Given the description of an element on the screen output the (x, y) to click on. 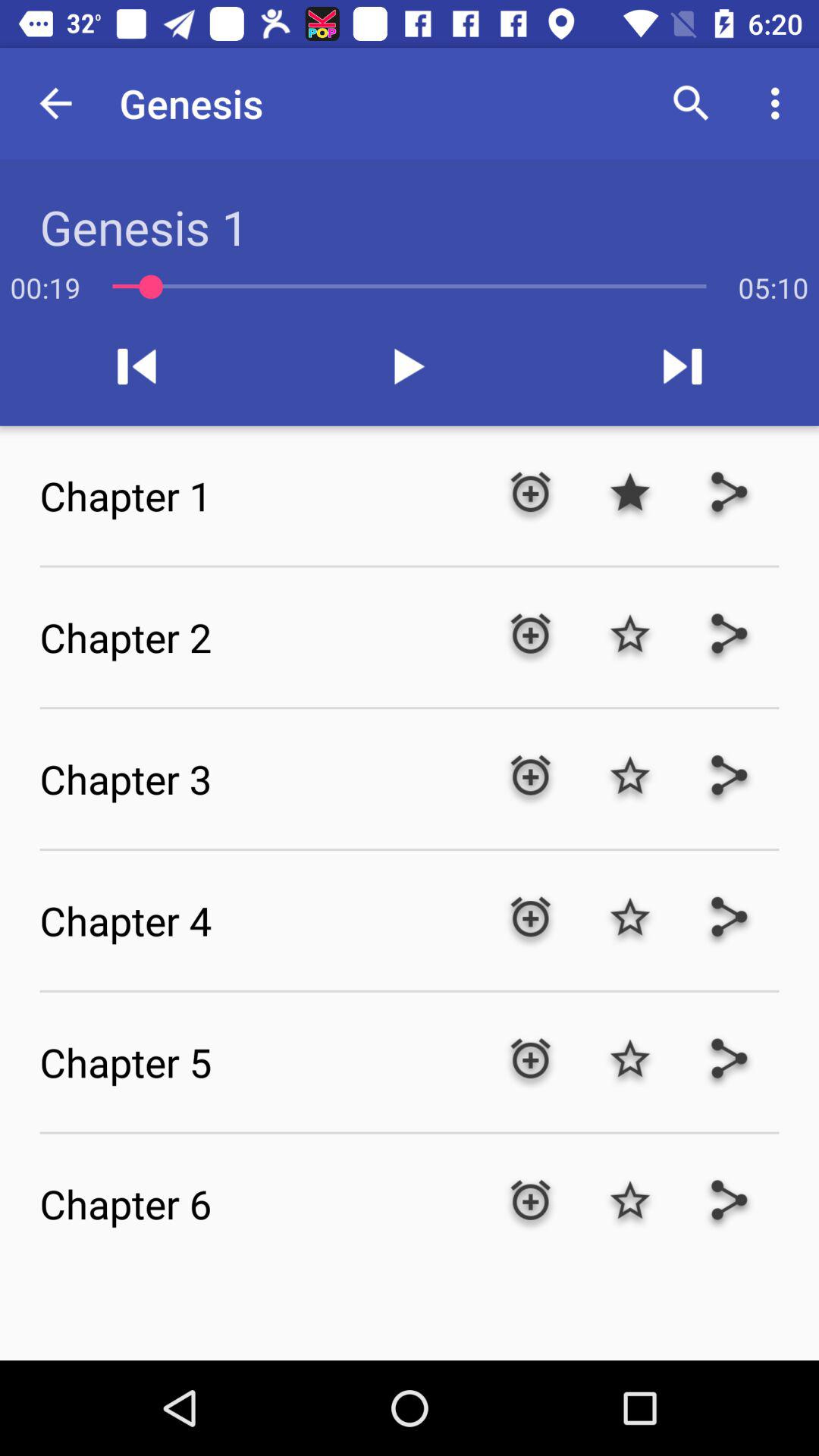
choose item to the left of the genesis item (55, 103)
